Given the description of an element on the screen output the (x, y) to click on. 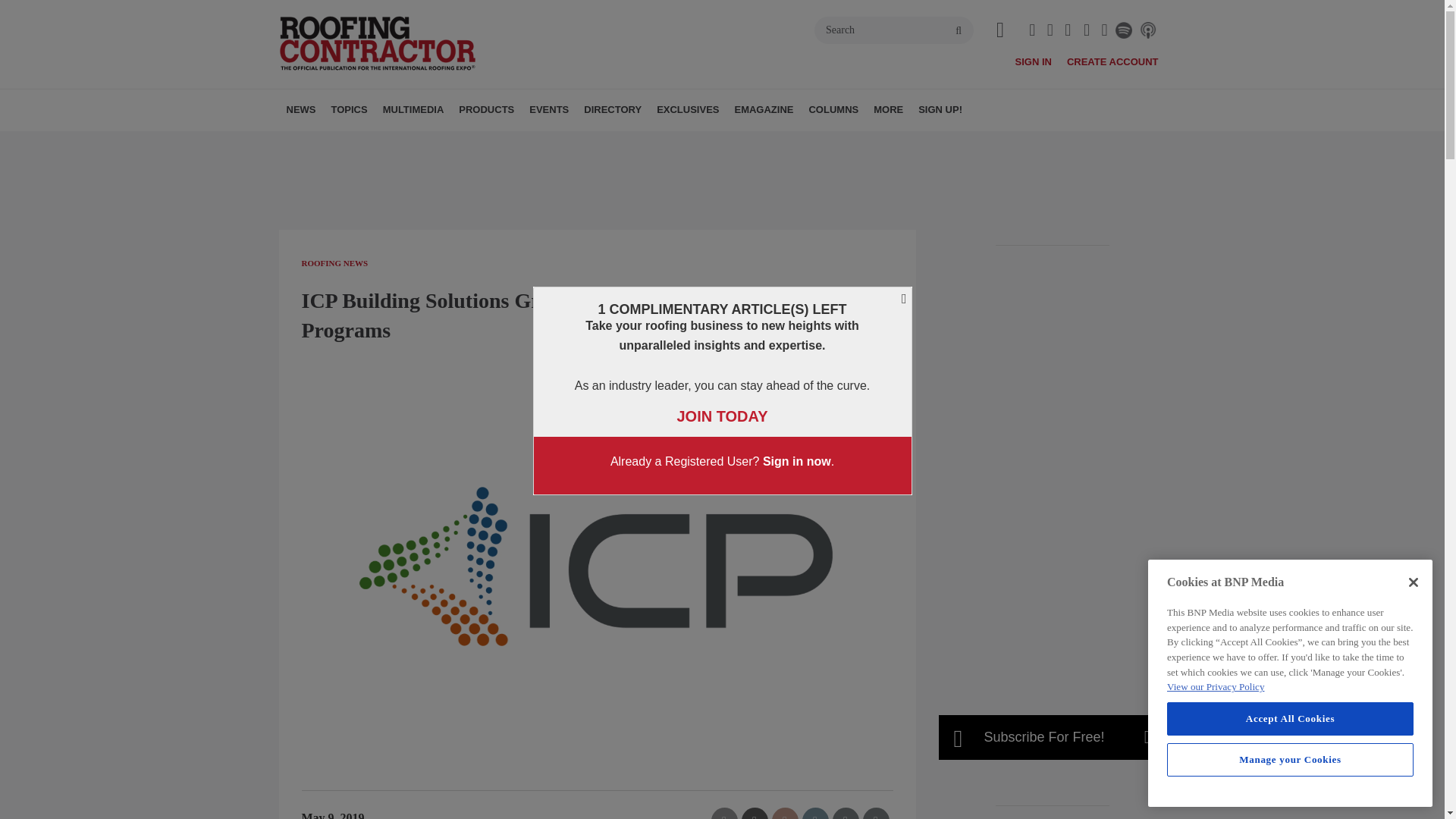
Search (893, 30)
Search (893, 30)
